Given the description of an element on the screen output the (x, y) to click on. 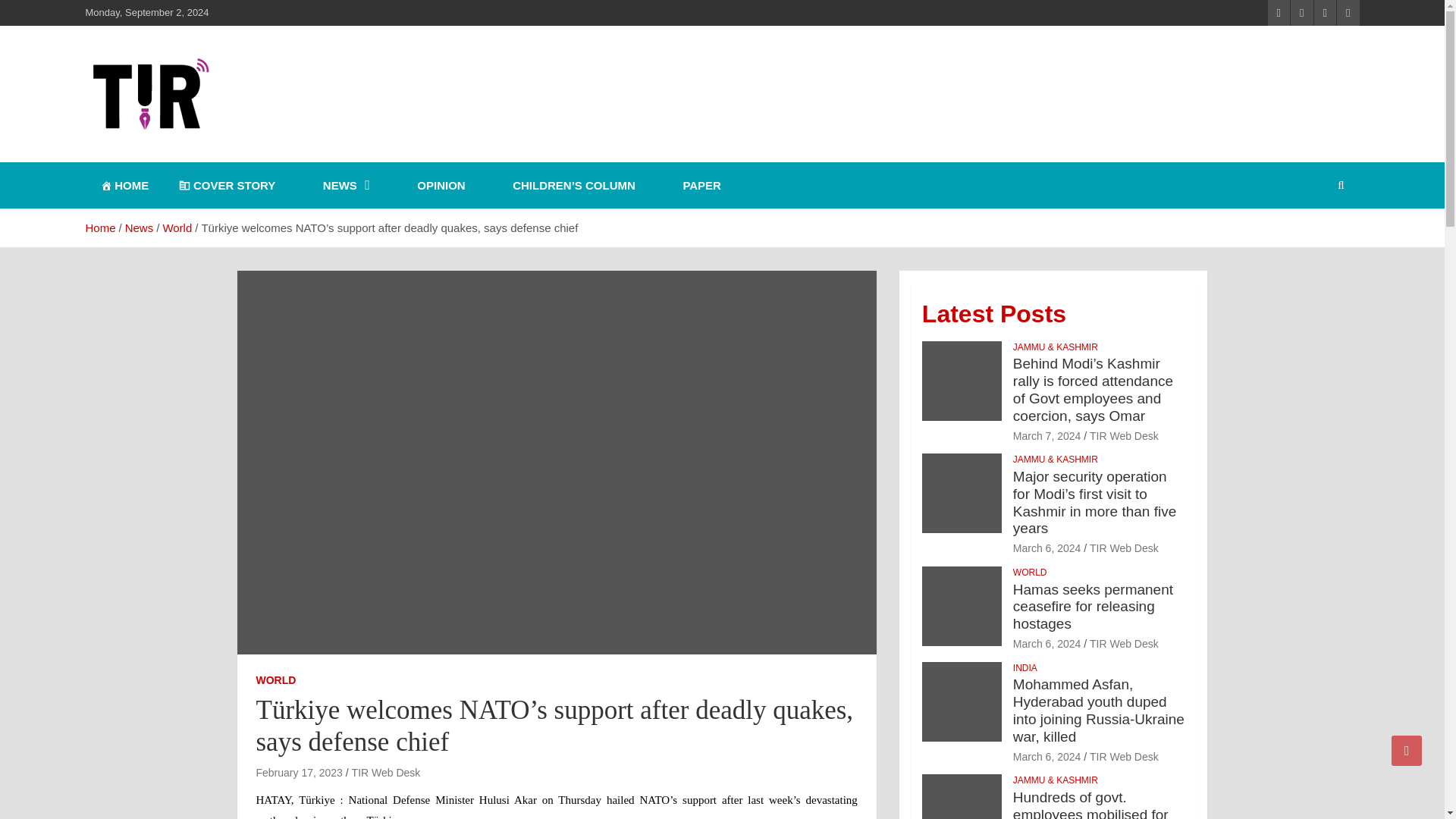
NEWS (337, 185)
PAPER (693, 185)
World (176, 227)
News (139, 227)
COVER STORY (226, 185)
TIR Web Desk (386, 772)
Latest Posts (993, 313)
HOME (123, 185)
February 17, 2023 (299, 772)
OPINION (432, 185)
